Given the description of an element on the screen output the (x, y) to click on. 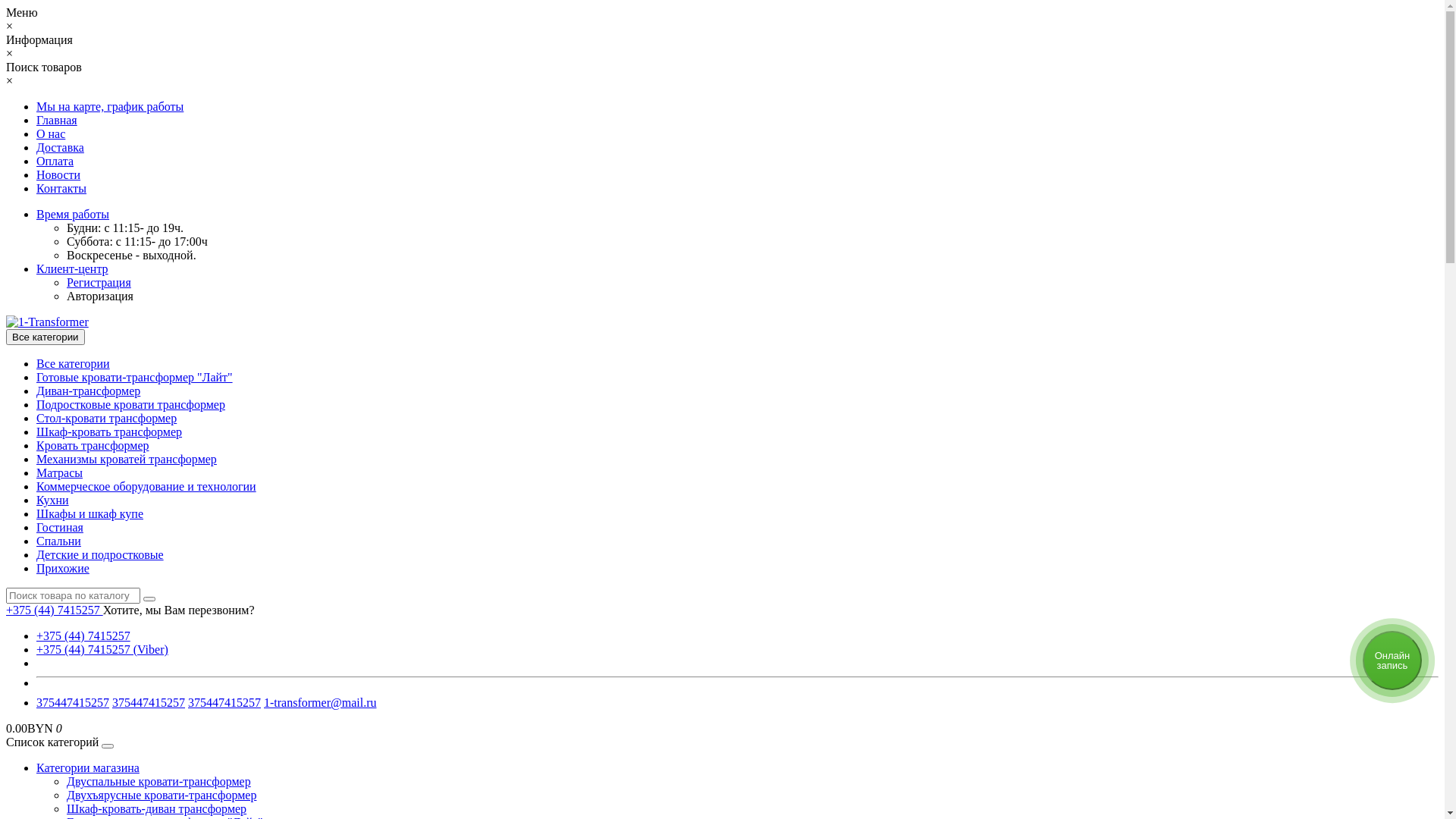
375447415257 Element type: text (72, 702)
+375 (44) 7415257 Element type: text (83, 635)
0.00BYN 0 Element type: text (34, 727)
375447415257 Element type: text (148, 702)
375447415257 Element type: text (224, 702)
+375 (44) 7415257 (Viber) Element type: text (102, 649)
1-transformer@mail.ru Element type: text (319, 702)
+375 (44) 7415257 Element type: text (54, 609)
